Given the description of an element on the screen output the (x, y) to click on. 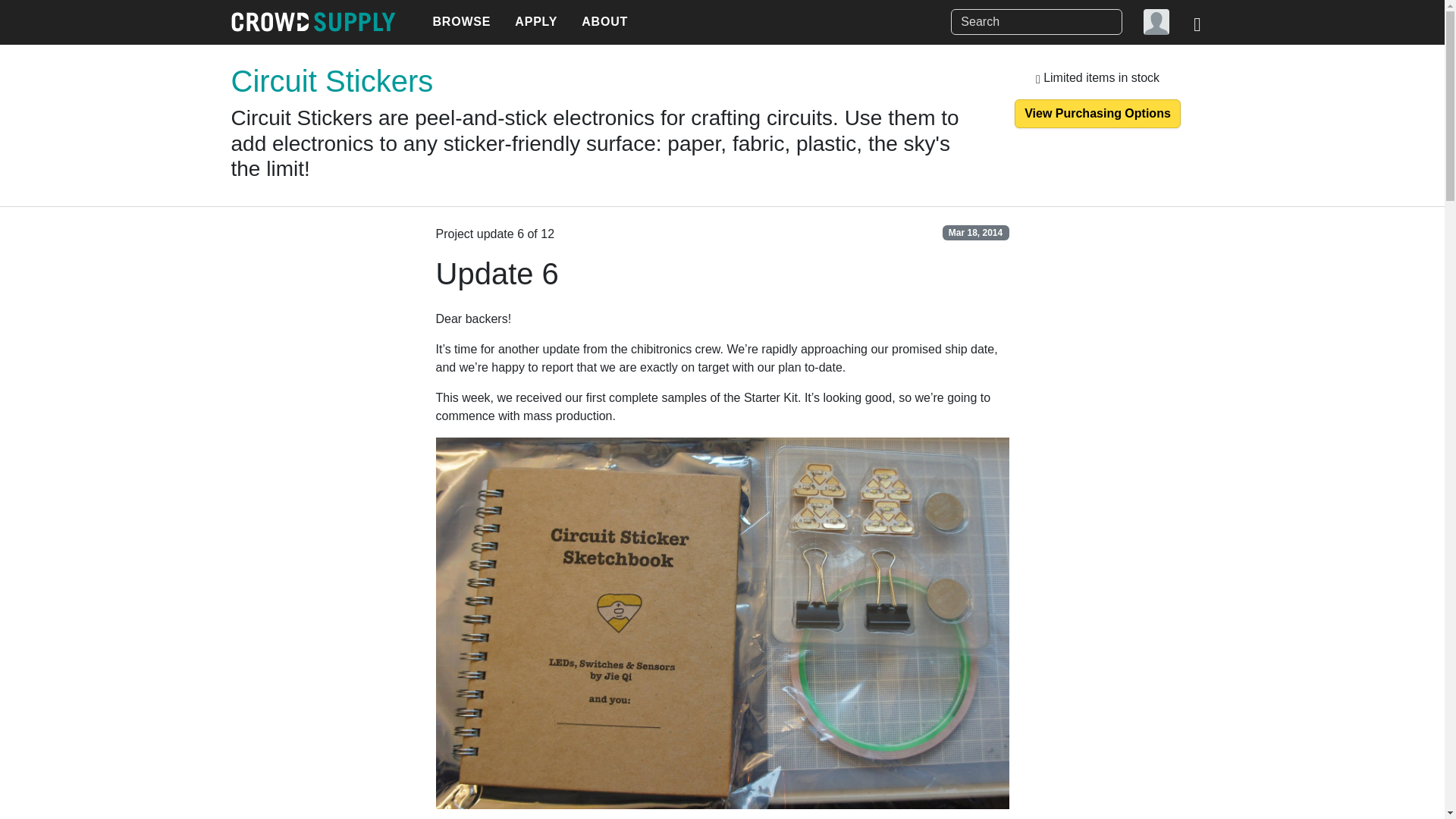
BROWSE (461, 21)
Crowd Supply (312, 22)
APPLY (535, 21)
ABOUT (604, 21)
Circuit Stickers (331, 80)
View Purchasing Options (1097, 113)
